Given the description of an element on the screen output the (x, y) to click on. 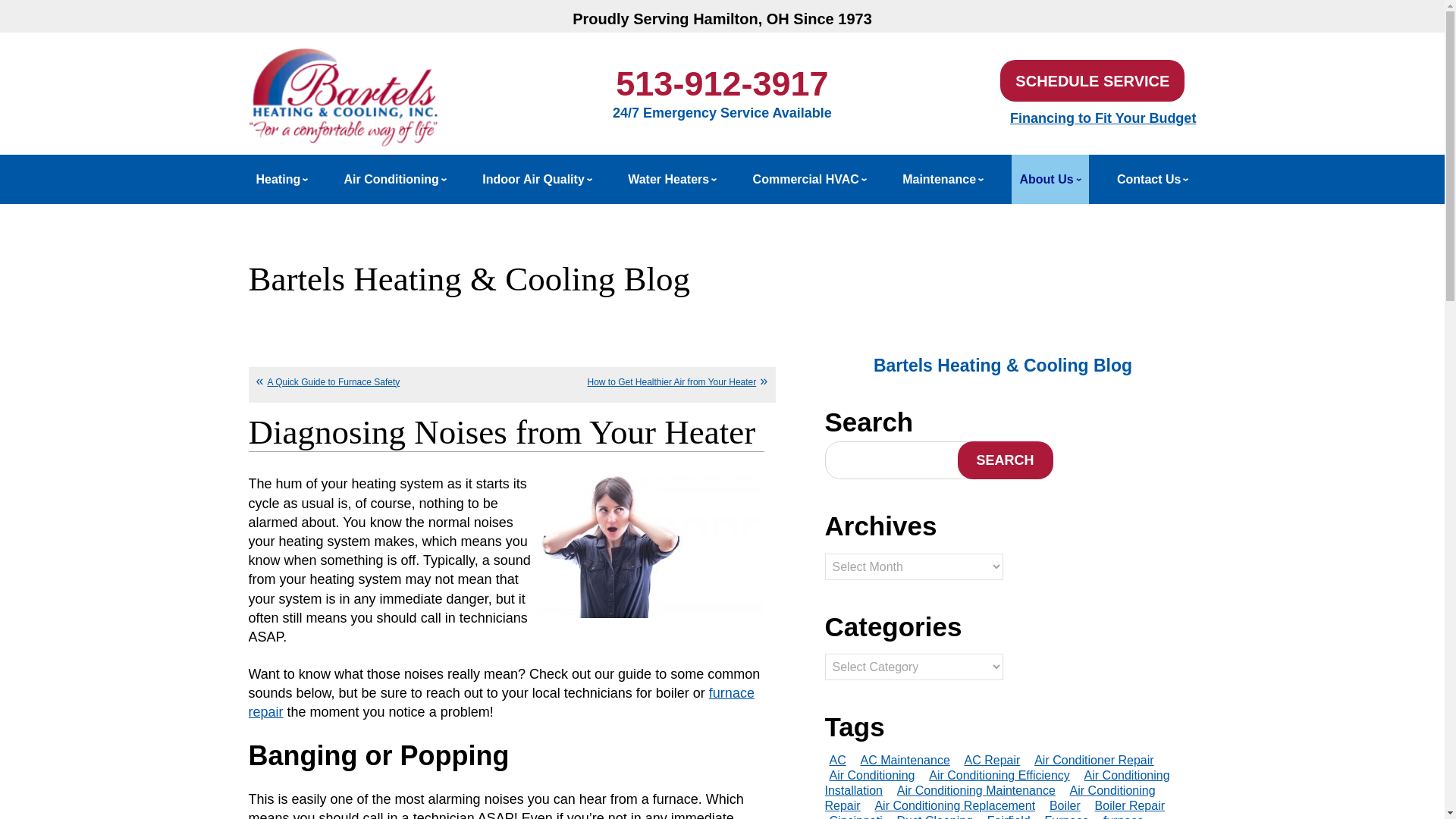
Air Conditioning (395, 178)
Financing to Fit Your Budget (1102, 117)
Heating (281, 178)
SCHEDULE SERVICE (1092, 80)
513-912-3917 (721, 83)
